Given the description of an element on the screen output the (x, y) to click on. 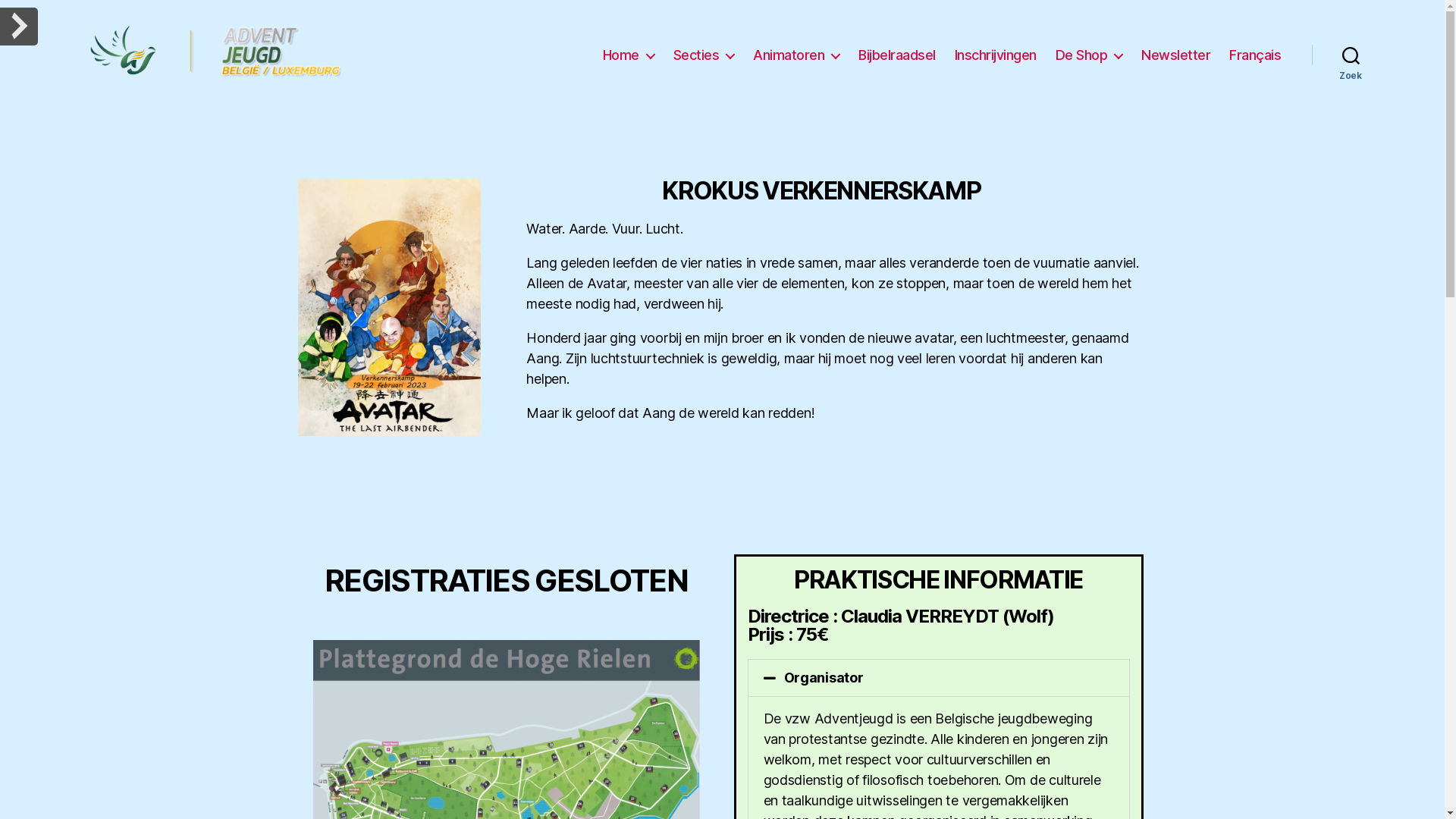
Home Element type: text (628, 55)
Organisator Element type: text (823, 677)
Animatoren Element type: text (796, 55)
Secties Element type: text (703, 55)
De Shop Element type: text (1089, 55)
Inschrijvingen Element type: text (995, 55)
Bijbelraadsel Element type: text (896, 55)
Newsletter Element type: text (1175, 55)
Zoek Element type: text (1350, 55)
